Given the description of an element on the screen output the (x, y) to click on. 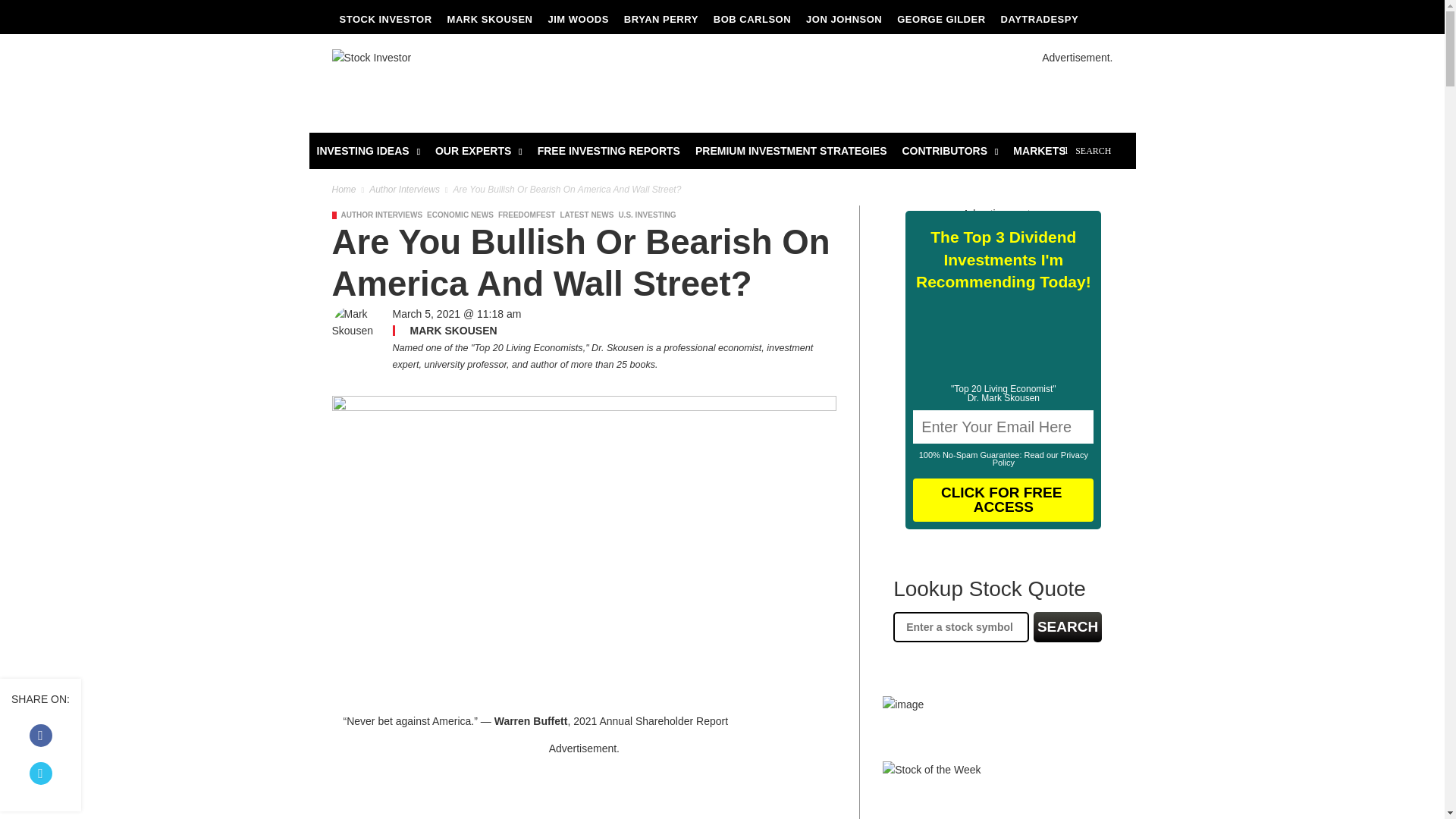
U.S. Investing (646, 214)
JON JOHNSON (843, 19)
BOB CARLSON (751, 19)
DAYTRADESPY (1039, 19)
FreedomFest (526, 214)
Economic News (459, 214)
Home (343, 189)
JIM WOODS (577, 19)
Author Interviews (381, 214)
MARK SKOUSEN (489, 19)
